Given the description of an element on the screen output the (x, y) to click on. 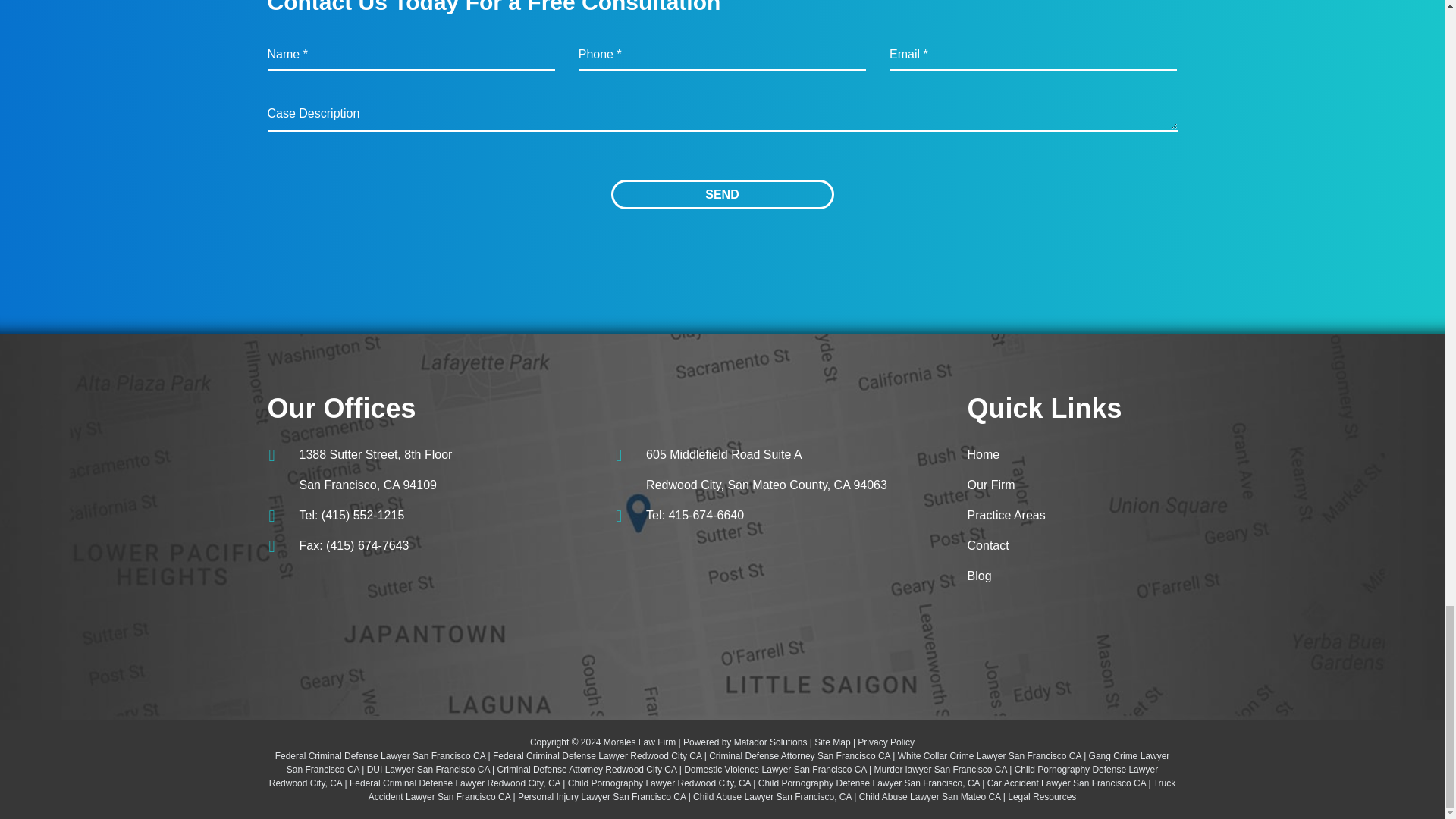
Send (722, 194)
